Given the description of an element on the screen output the (x, y) to click on. 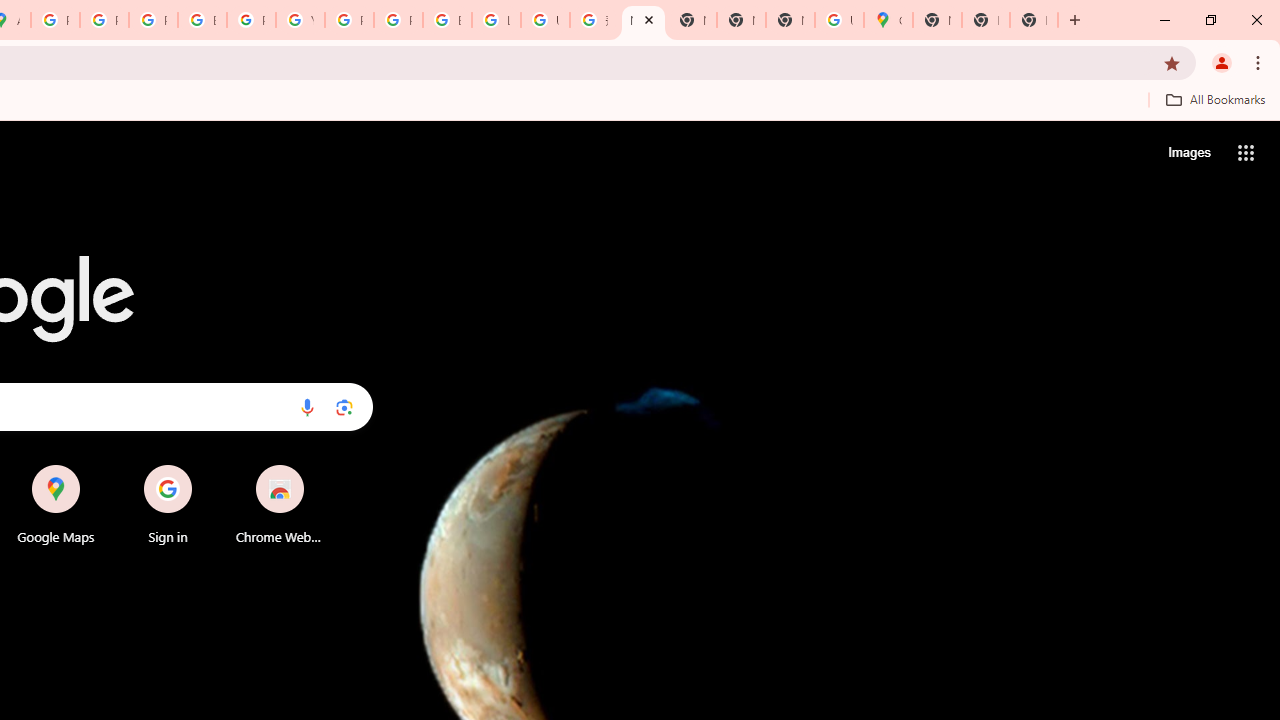
Google Maps (888, 20)
Chrome Web Store (279, 504)
Privacy Help Center - Policies Help (153, 20)
New Tab (643, 20)
YouTube (300, 20)
Policy Accountability and Transparency - Transparency Center (55, 20)
